Given the description of an element on the screen output the (x, y) to click on. 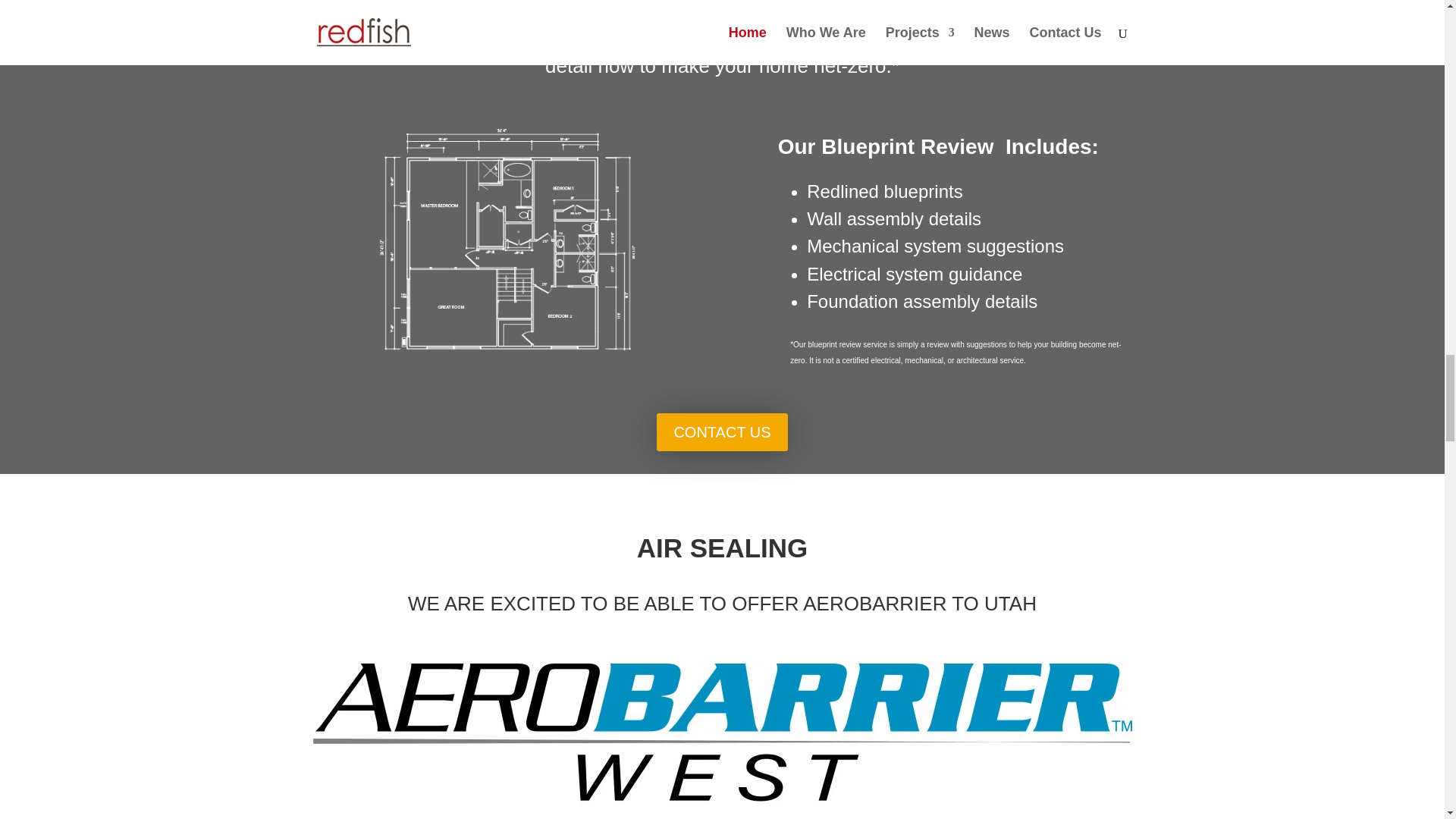
CONTACT US (721, 432)
